Given the description of an element on the screen output the (x, y) to click on. 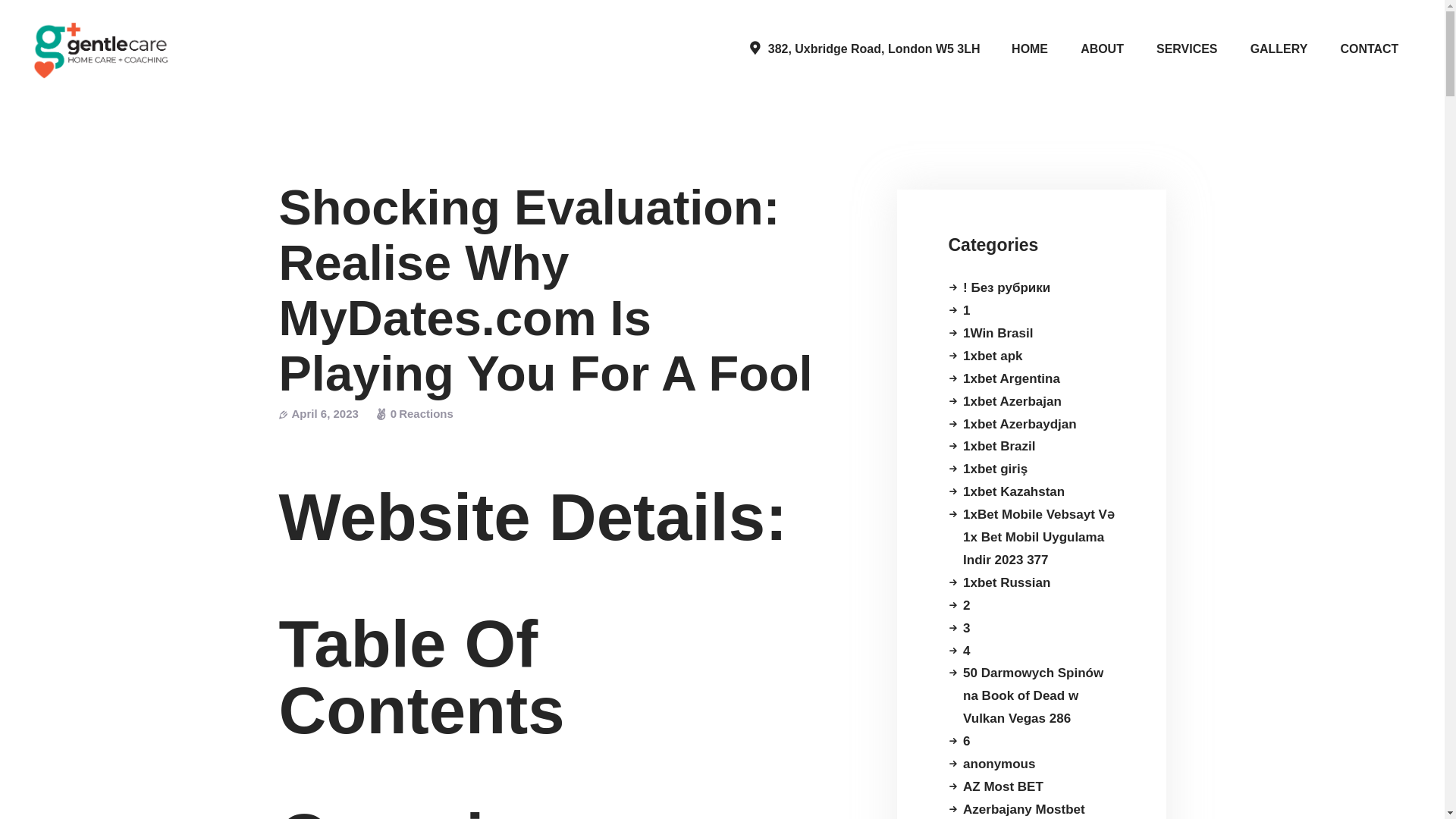
GALLERY (1278, 48)
1xbet Brazil (998, 445)
1xbet Azerbaydjan (1019, 423)
1 (965, 310)
SERVICES (1186, 48)
HOME (1029, 48)
0Reactions (414, 413)
1xbet Azerbajan (1011, 400)
CONTACT (1369, 48)
1Win Brasil (997, 332)
April 6, 2023 (324, 413)
1xbet apk (992, 355)
ABOUT (1102, 48)
1xbet Argentina (1010, 378)
1xbet Kazahstan (1013, 491)
